Given the description of an element on the screen output the (x, y) to click on. 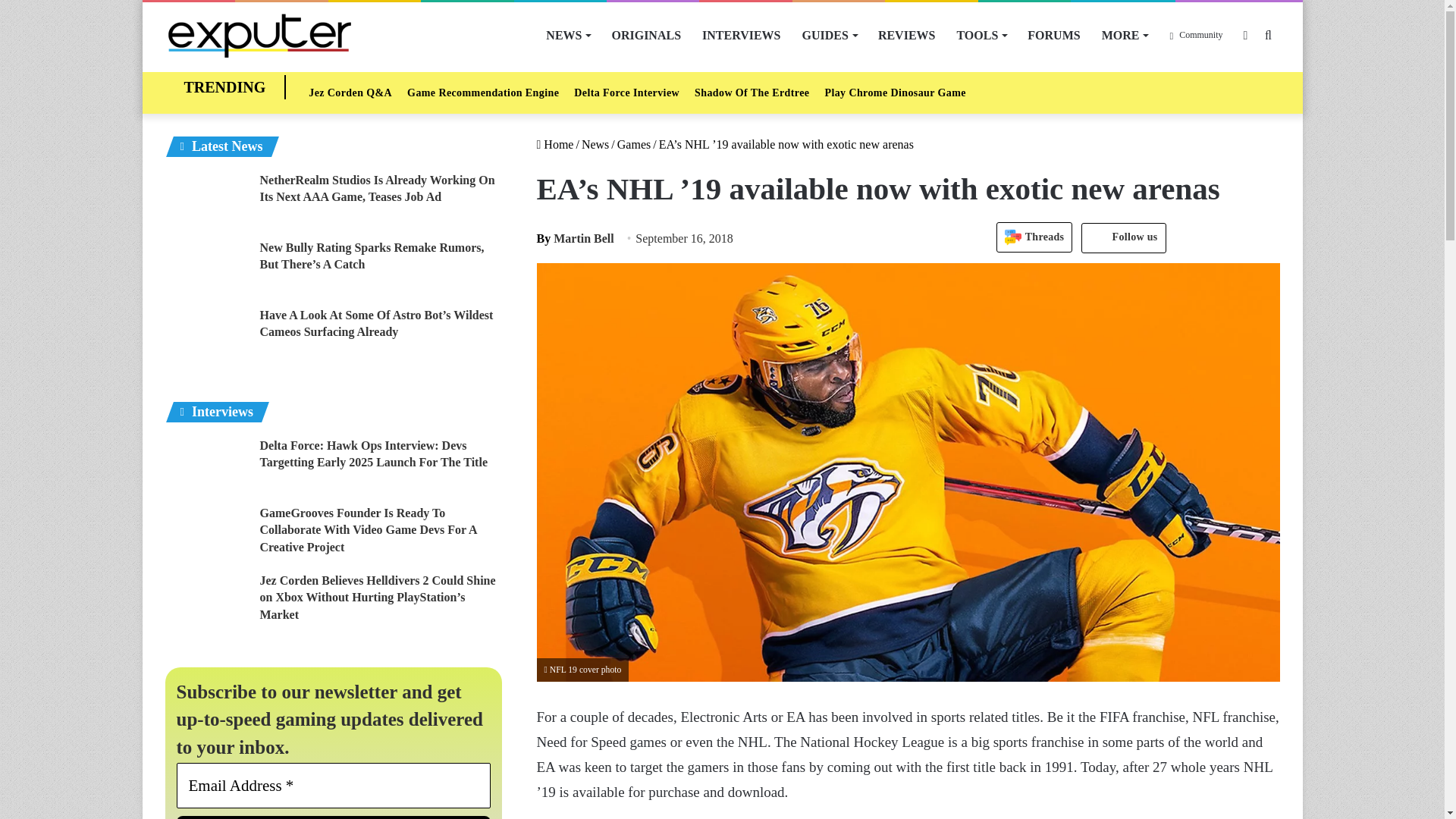
Email Address (333, 785)
REVIEWS (906, 35)
Martin Bell (575, 237)
TOOLS (980, 35)
ORIGINALS (645, 35)
NEWS (567, 35)
FORUMS (1053, 35)
GUIDES (829, 35)
MORE (1124, 35)
